Given the description of an element on the screen output the (x, y) to click on. 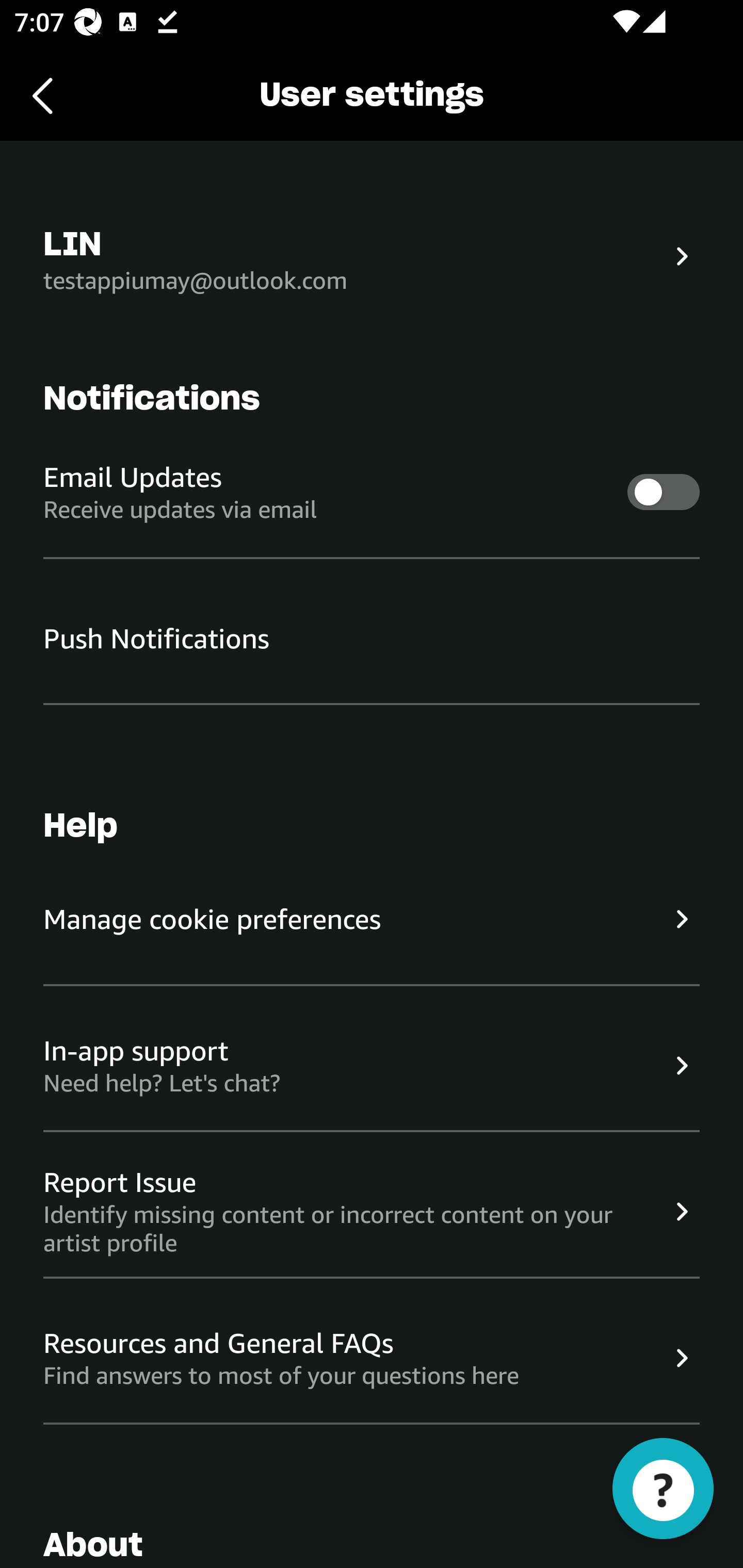
Justin Bieber Search for an artist search bar (324, 290)
Push Notifications (371, 638)
